Given the description of an element on the screen output the (x, y) to click on. 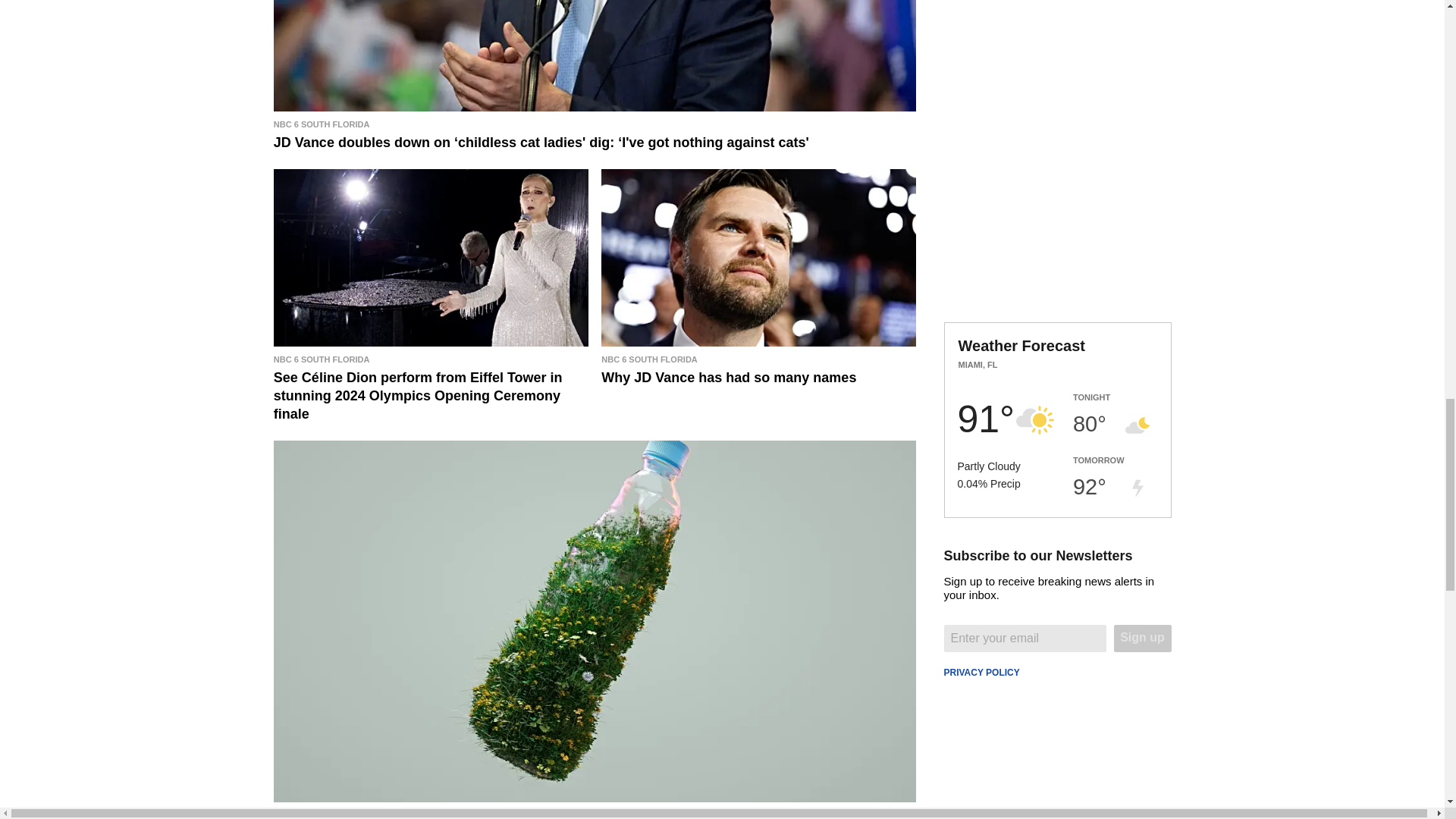
5 cheap and easy DIY tricks with empty plastic bottles. (595, 812)
Why JD Vance has had so many names (758, 257)
Why JD Vance has had so many names (758, 368)
